Given the description of an element on the screen output the (x, y) to click on. 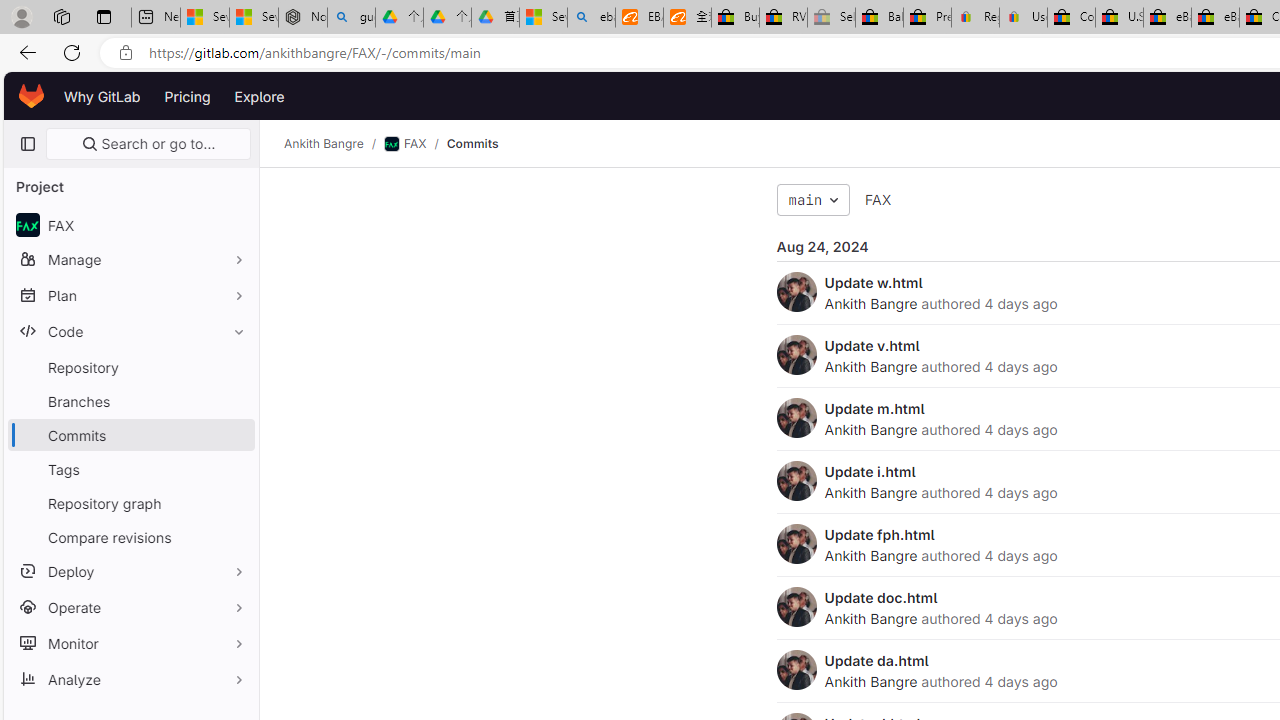
Operate (130, 606)
Primary navigation sidebar (27, 143)
Repository graph (130, 502)
Plan (130, 295)
Update doc.html (881, 597)
eBay Inc. Reports Third Quarter 2023 Results (1215, 17)
Press Room - eBay Inc. (927, 17)
Manage (130, 259)
Compare revisions (130, 536)
Update w.html (873, 282)
Sell worldwide with eBay - Sleeping (831, 17)
Operate (130, 606)
